Given the description of an element on the screen output the (x, y) to click on. 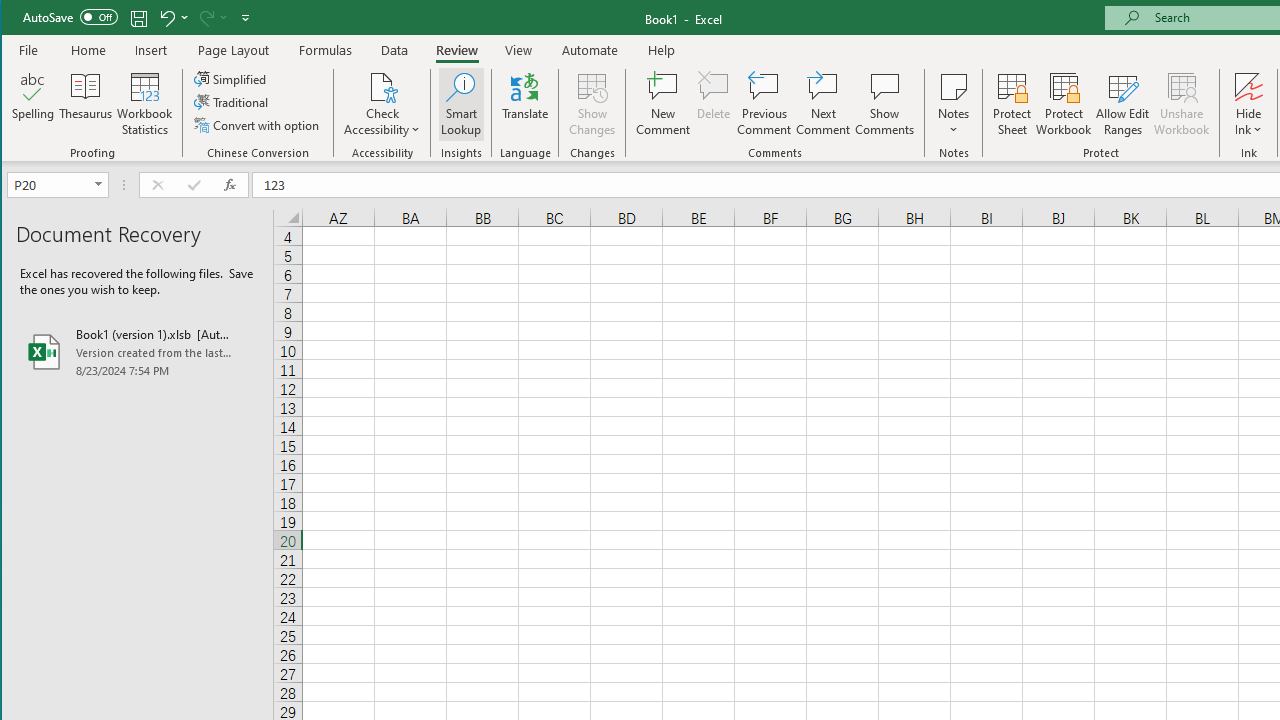
Thesaurus... (86, 104)
Show Changes (592, 104)
Next Comment (822, 104)
Workbook Statistics (145, 104)
Spelling... (33, 104)
Allow Edit Ranges (1123, 104)
Protect Workbook... (1064, 104)
Traditional (232, 101)
